Given the description of an element on the screen output the (x, y) to click on. 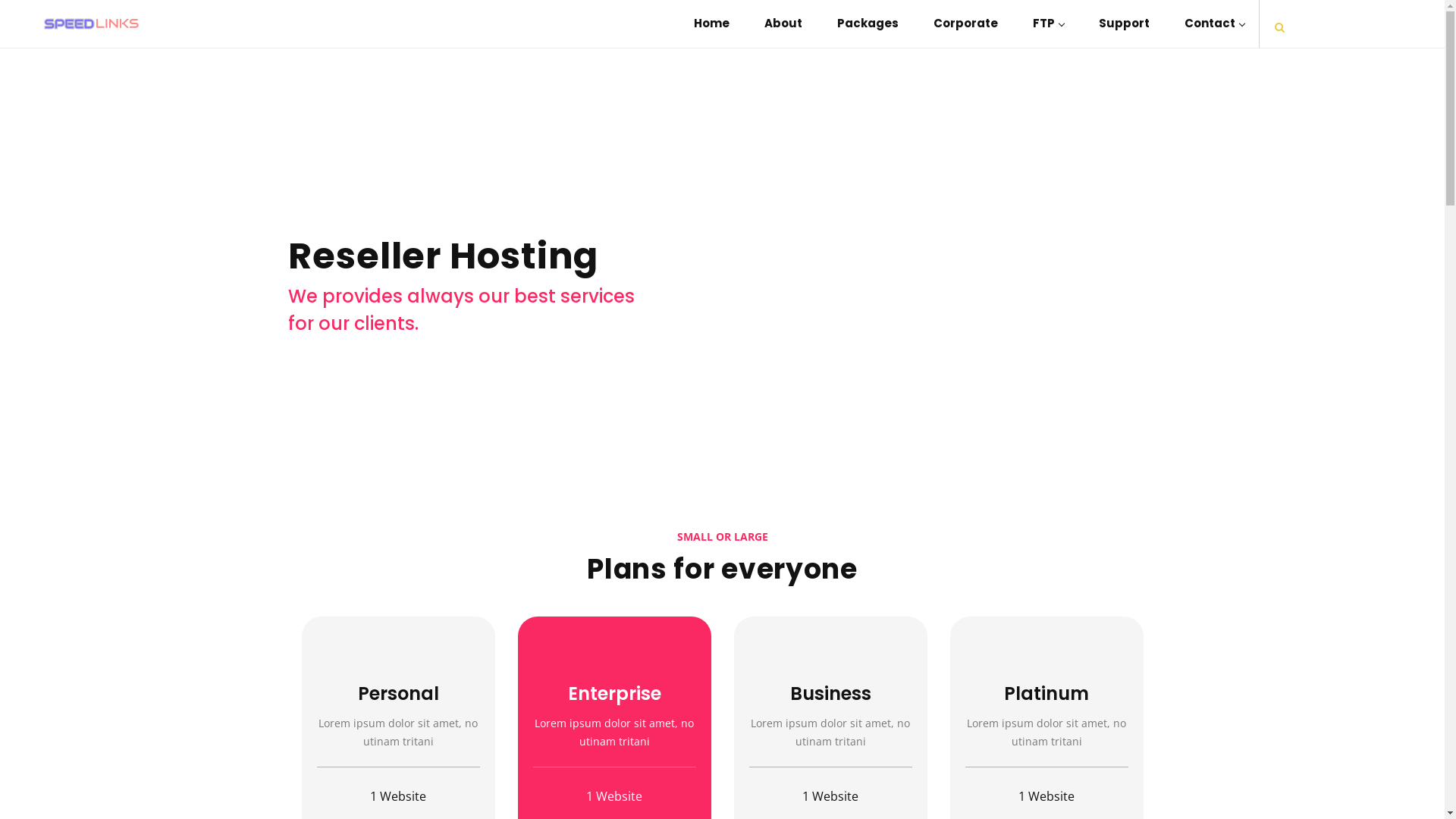
Home Element type: text (711, 23)
Contact Element type: text (1205, 23)
FTP Element type: text (1048, 23)
Send Message Element type: text (743, 328)
Corporate Element type: text (965, 23)
Packages Element type: text (867, 23)
About Element type: text (782, 23)
Support Element type: text (1124, 23)
